Given the description of an element on the screen output the (x, y) to click on. 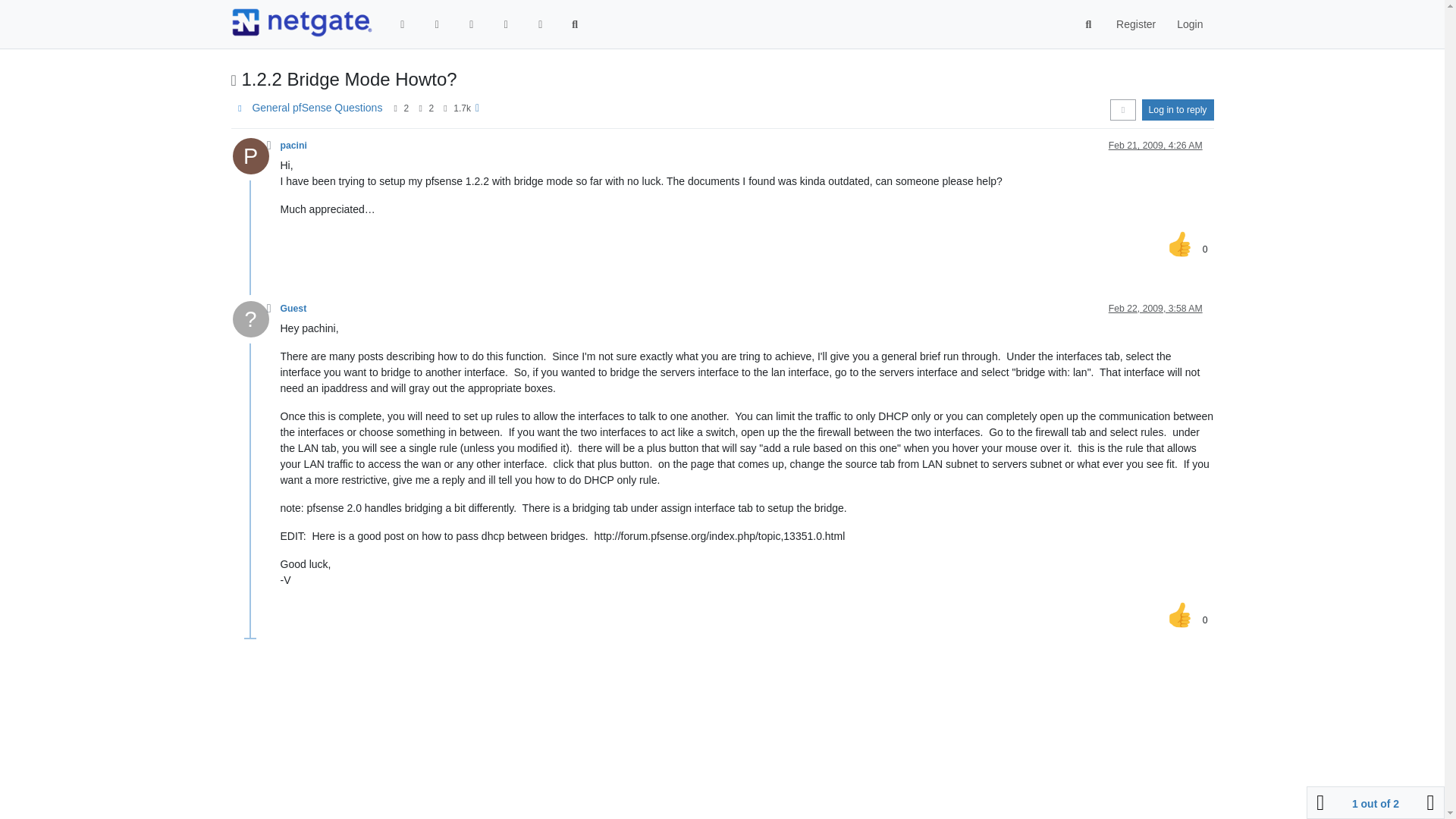
Log in to reply (1177, 109)
Categories (402, 24)
Search (574, 24)
Feb 21, 2009, 4:26 AM (1155, 145)
Recent (437, 24)
Users (539, 24)
Login (1189, 24)
Tags (471, 24)
P (255, 159)
General pfSense Questions (316, 107)
